Given the description of an element on the screen output the (x, y) to click on. 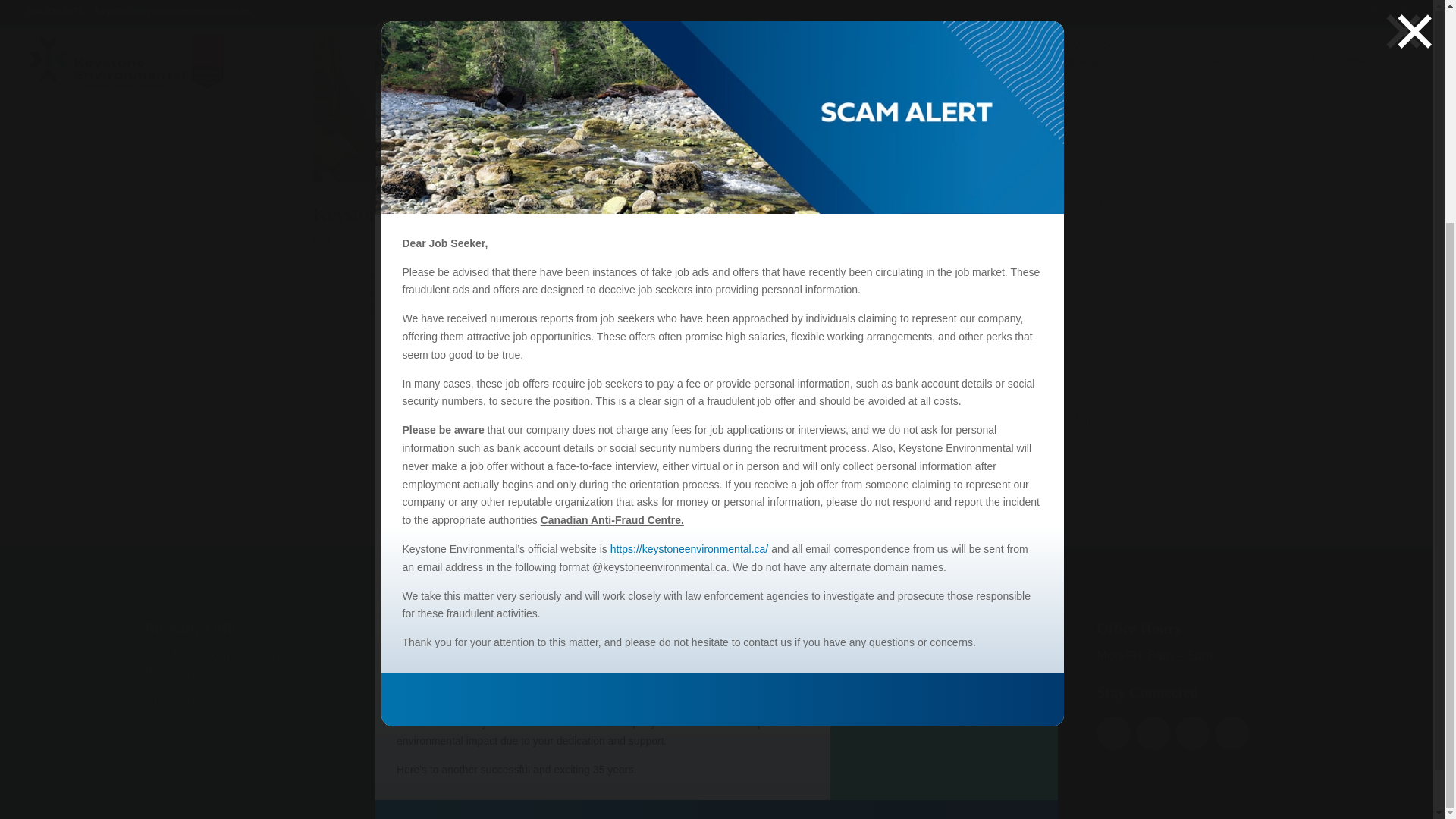
Follow on Instagram (1232, 733)
Follow on Facebook (1114, 733)
Posts by Keystone Environmental (384, 240)
Follow on X (1153, 733)
Sign up (1006, 487)
Follow on LinkedIn (1192, 733)
